Given the description of an element on the screen output the (x, y) to click on. 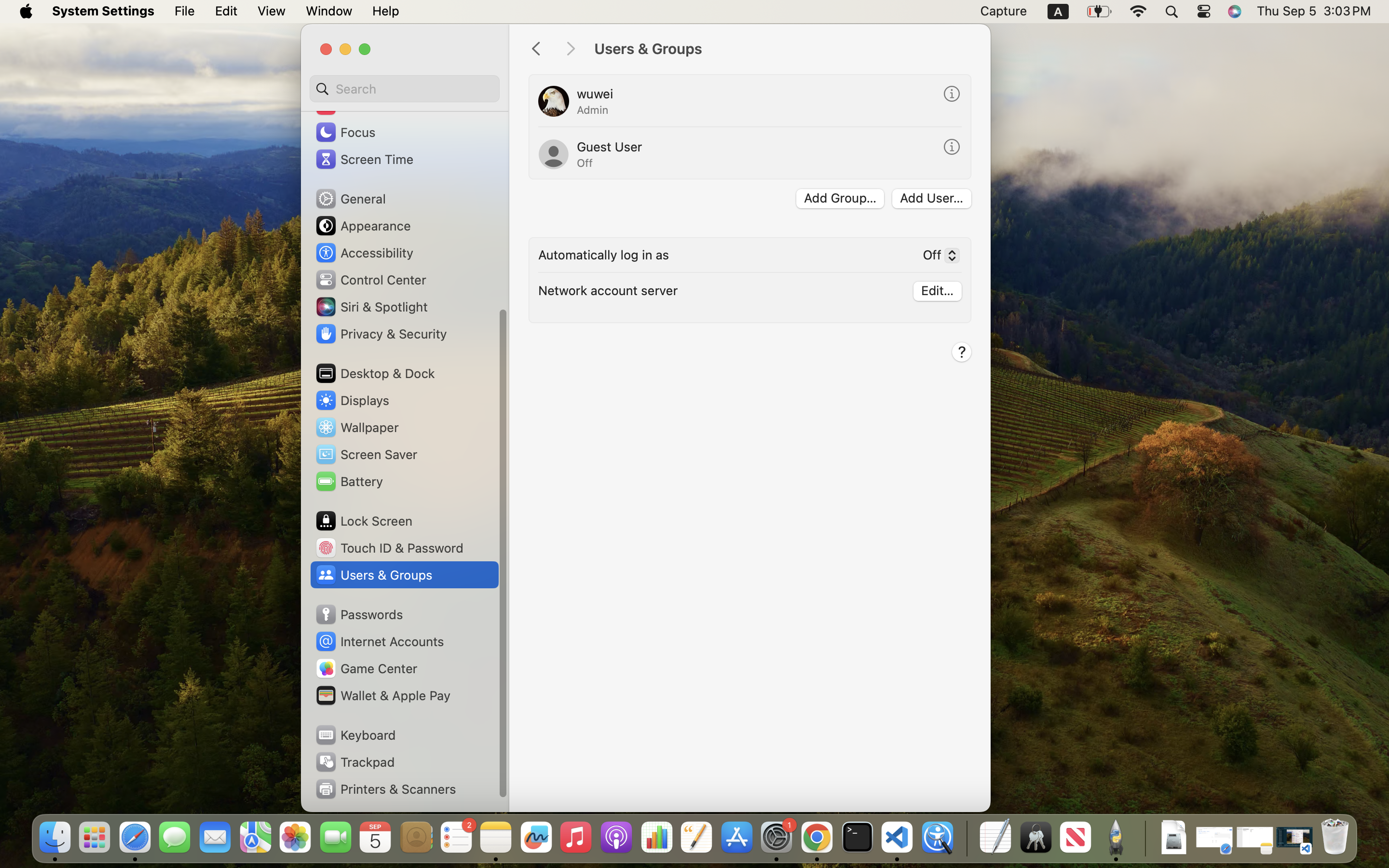
Off Element type: AXStaticText (584, 162)
Lock Screen Element type: AXStaticText (363, 520)
Touch ID & Password Element type: AXStaticText (388, 547)
Admin Element type: AXStaticText (592, 109)
Desktop & Dock Element type: AXStaticText (374, 372)
